Given the description of an element on the screen output the (x, y) to click on. 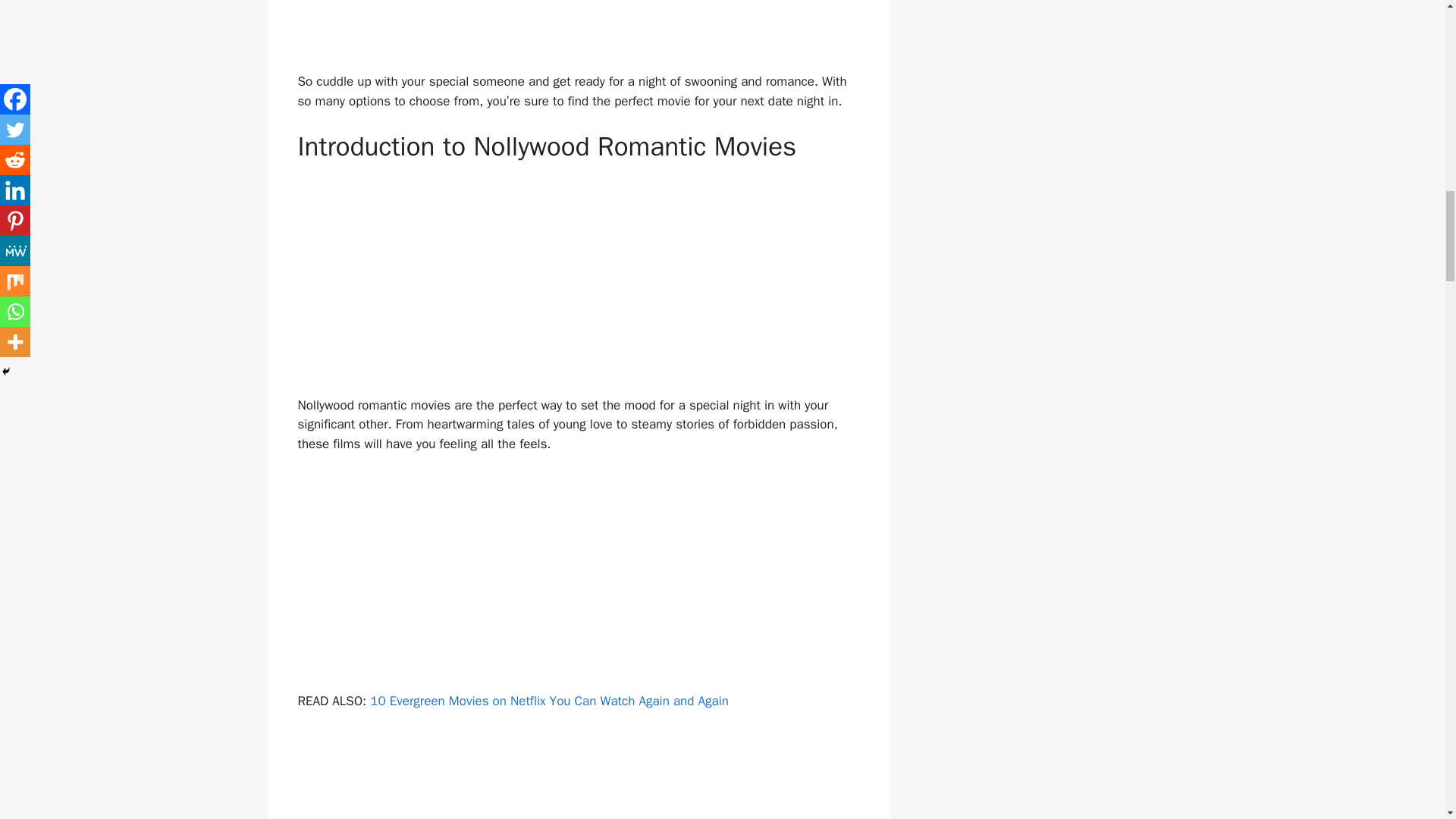
Advertisement (578, 33)
10 Evergreen Movies on Netflix You Can Watch Again and Again (549, 700)
Advertisement (578, 283)
